Given the description of an element on the screen output the (x, y) to click on. 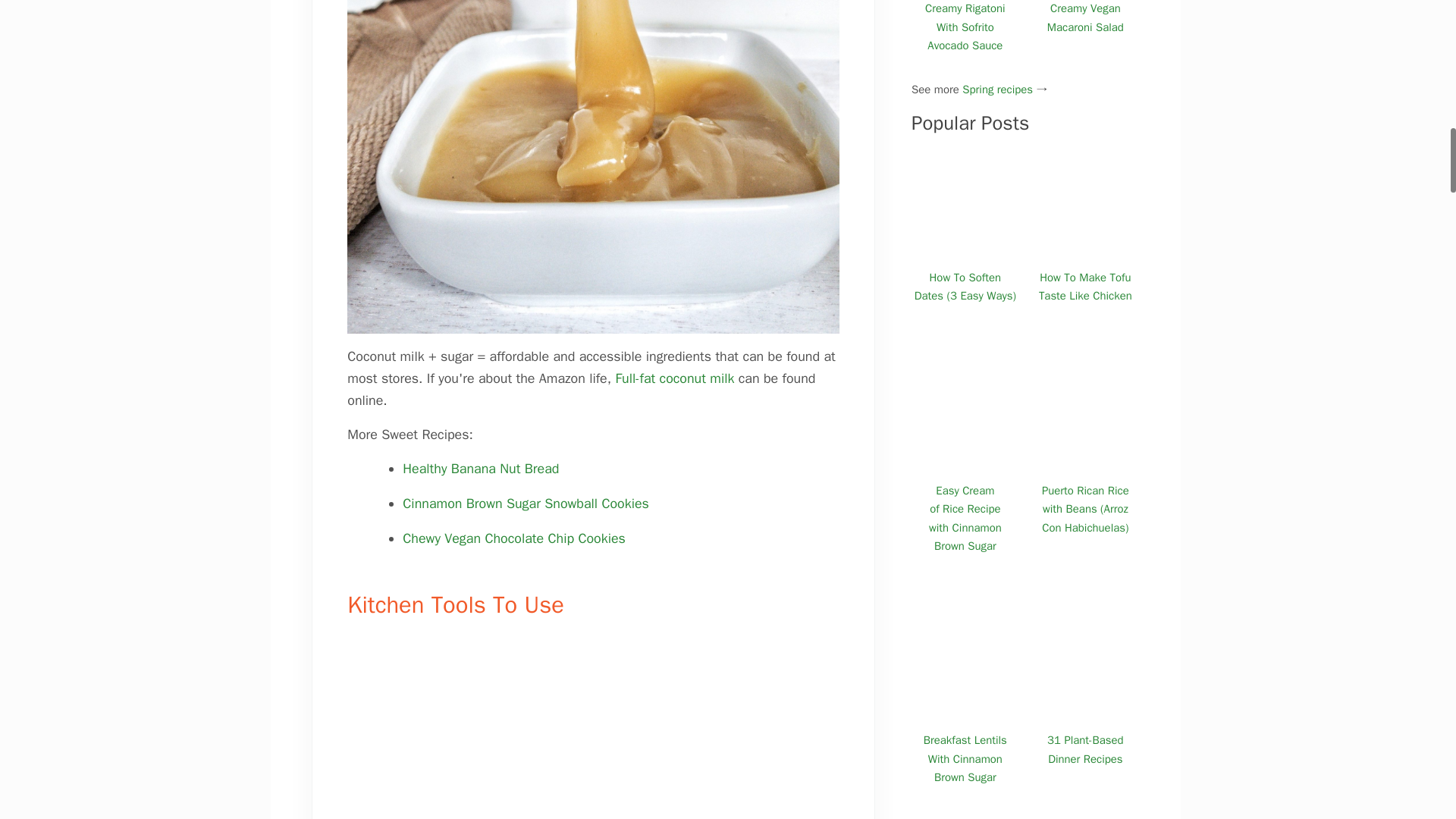
Cinnamon Brown Sugar Snowball Cookies (526, 503)
Healthy Banana Nut Bread  (483, 468)
Chewy Vegan Chocolate Chip Cookies  (515, 538)
Full-fat coconut milk (673, 378)
